Given the description of an element on the screen output the (x, y) to click on. 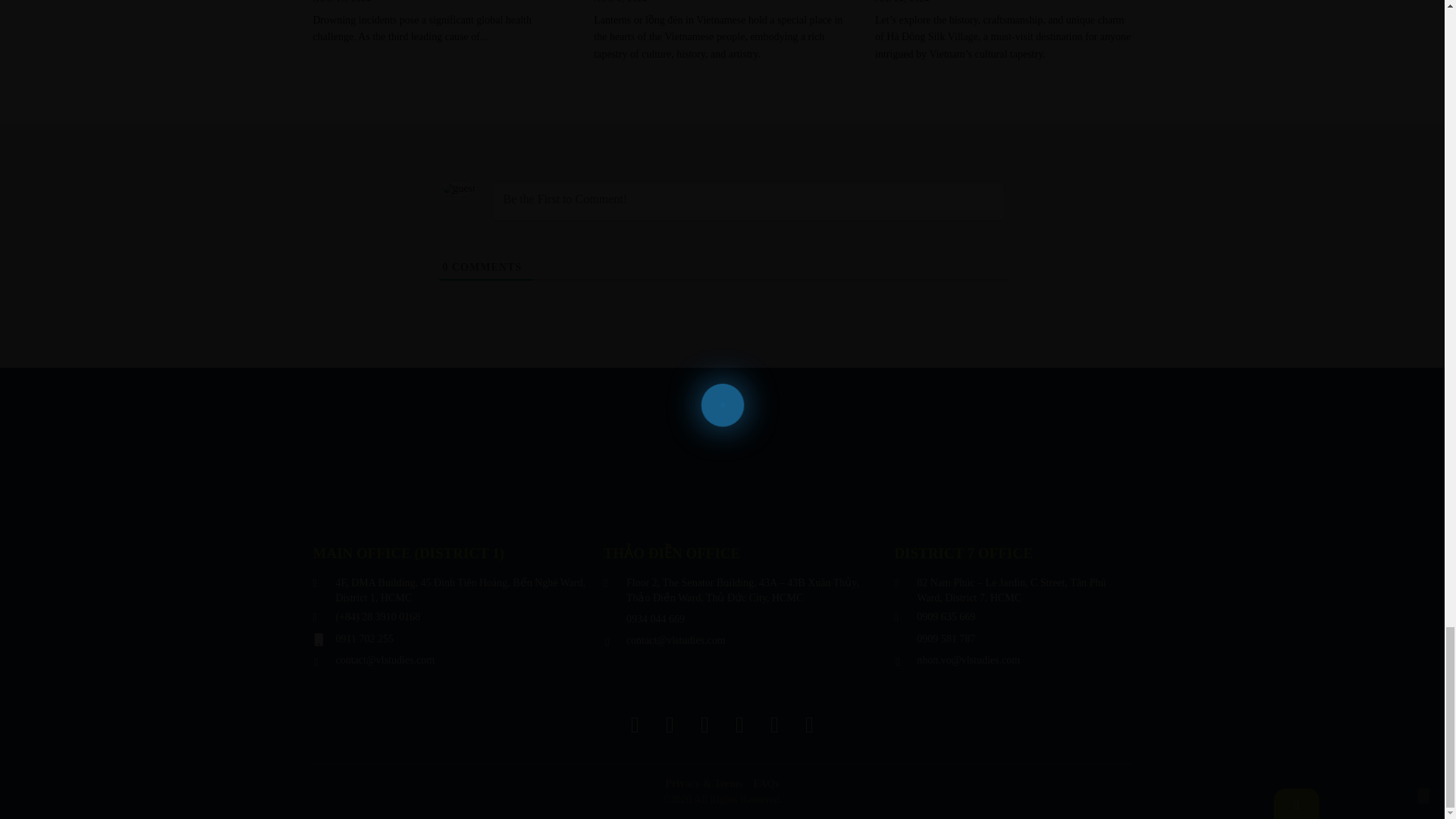
Follow on Facebook (634, 724)
Follow on Instagram (669, 724)
Follow on RSS (773, 724)
FAQs (765, 783)
Follow on Youtube (808, 724)
Privacy Terms (703, 783)
Follow on LinkedIn (738, 724)
Follow on Twitter (704, 724)
